Given the description of an element on the screen output the (x, y) to click on. 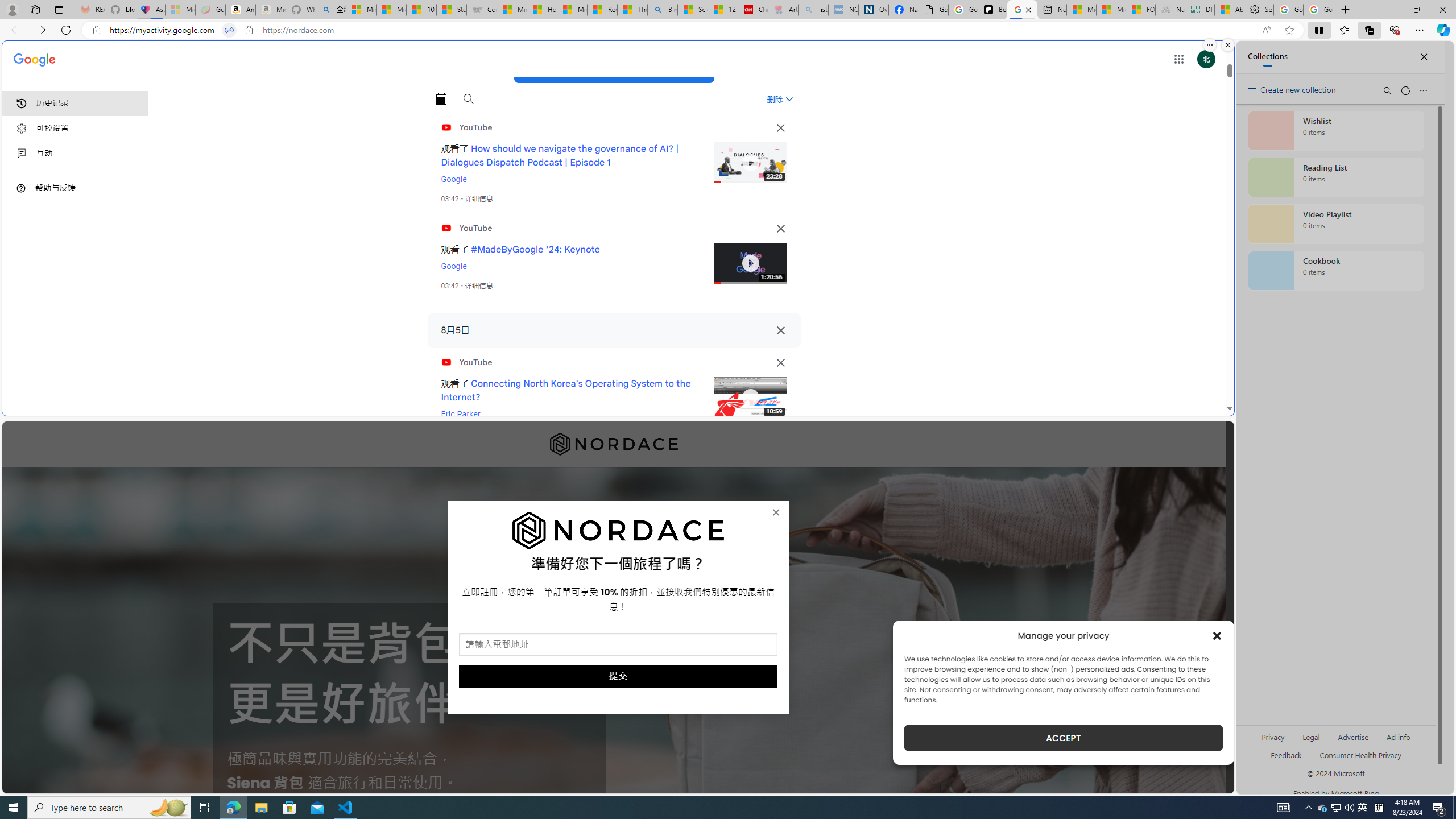
Close split screen. (1227, 45)
More options. (1209, 45)
